Given the description of an element on the screen output the (x, y) to click on. 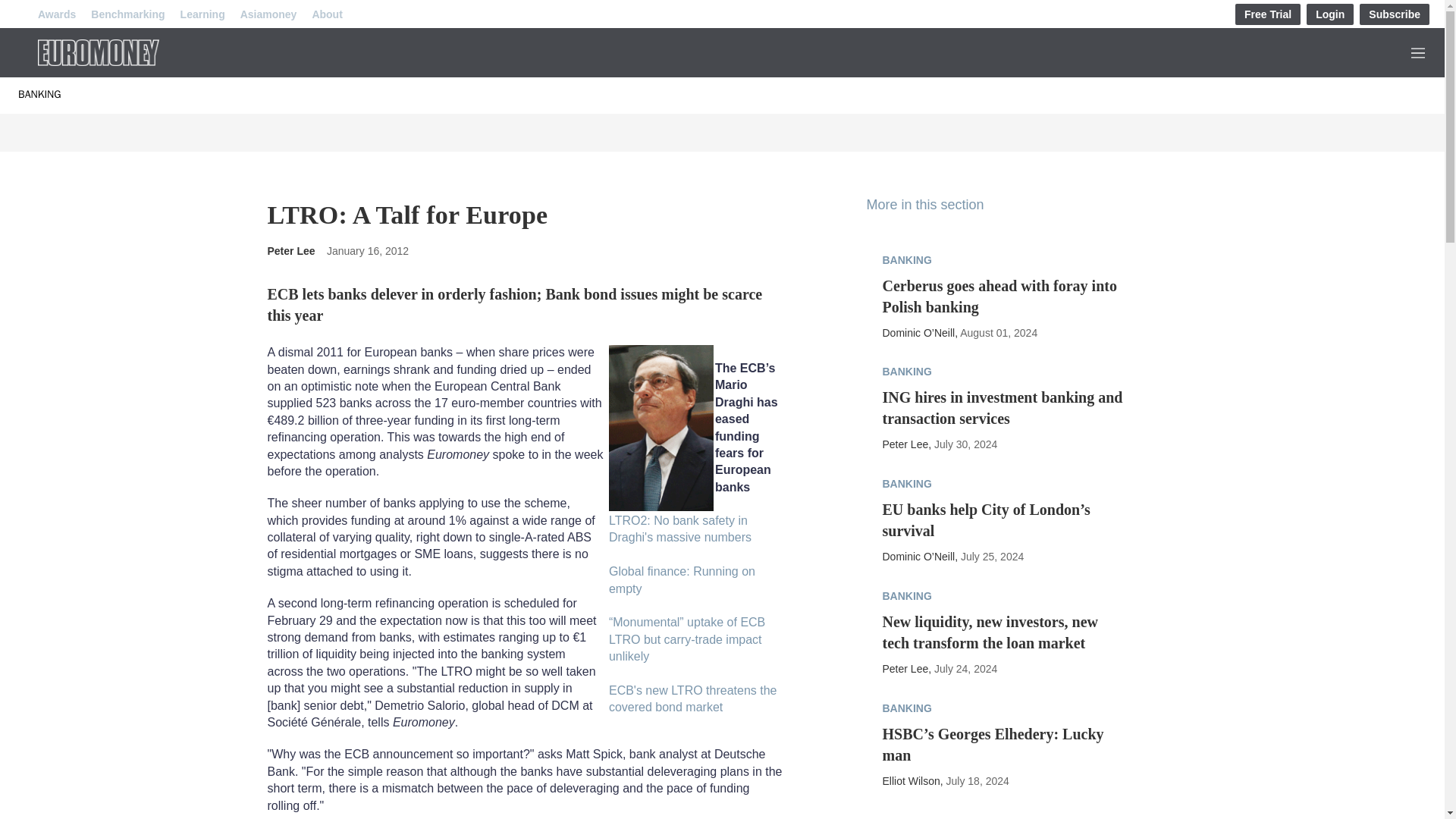
Share (771, 443)
Asiamoney (268, 13)
Free Trial (1267, 13)
Subscribe (1394, 13)
About (326, 13)
Awards (56, 13)
Benchmarking (127, 13)
Login (1329, 13)
Learning (202, 13)
